Given the description of an element on the screen output the (x, y) to click on. 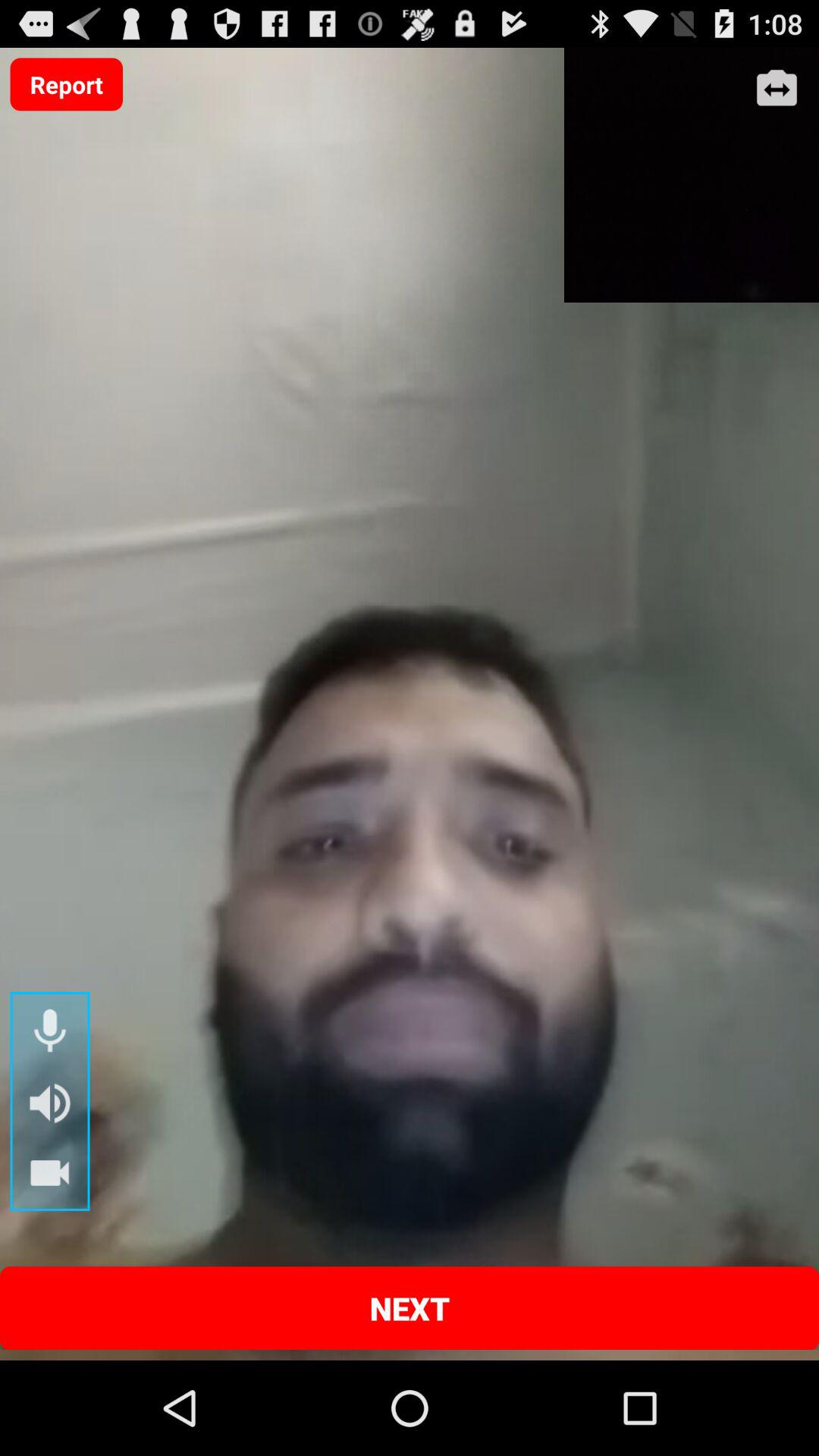
toggle microphone (49, 1031)
